Given the description of an element on the screen output the (x, y) to click on. 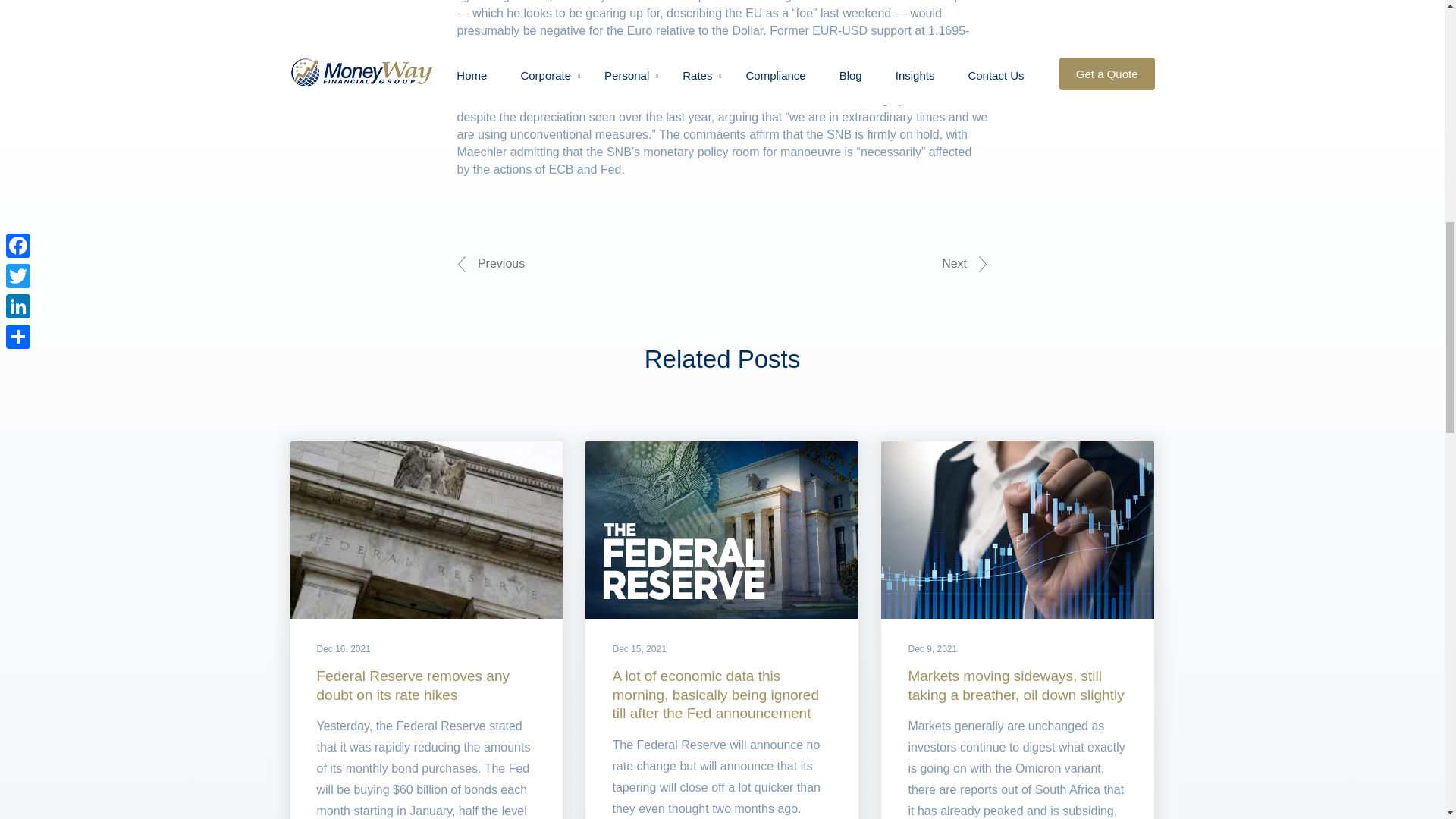
Federal Reserve removes any doubt on its rate hikes (414, 685)
Previous (490, 263)
Next (964, 263)
